Given the description of an element on the screen output the (x, y) to click on. 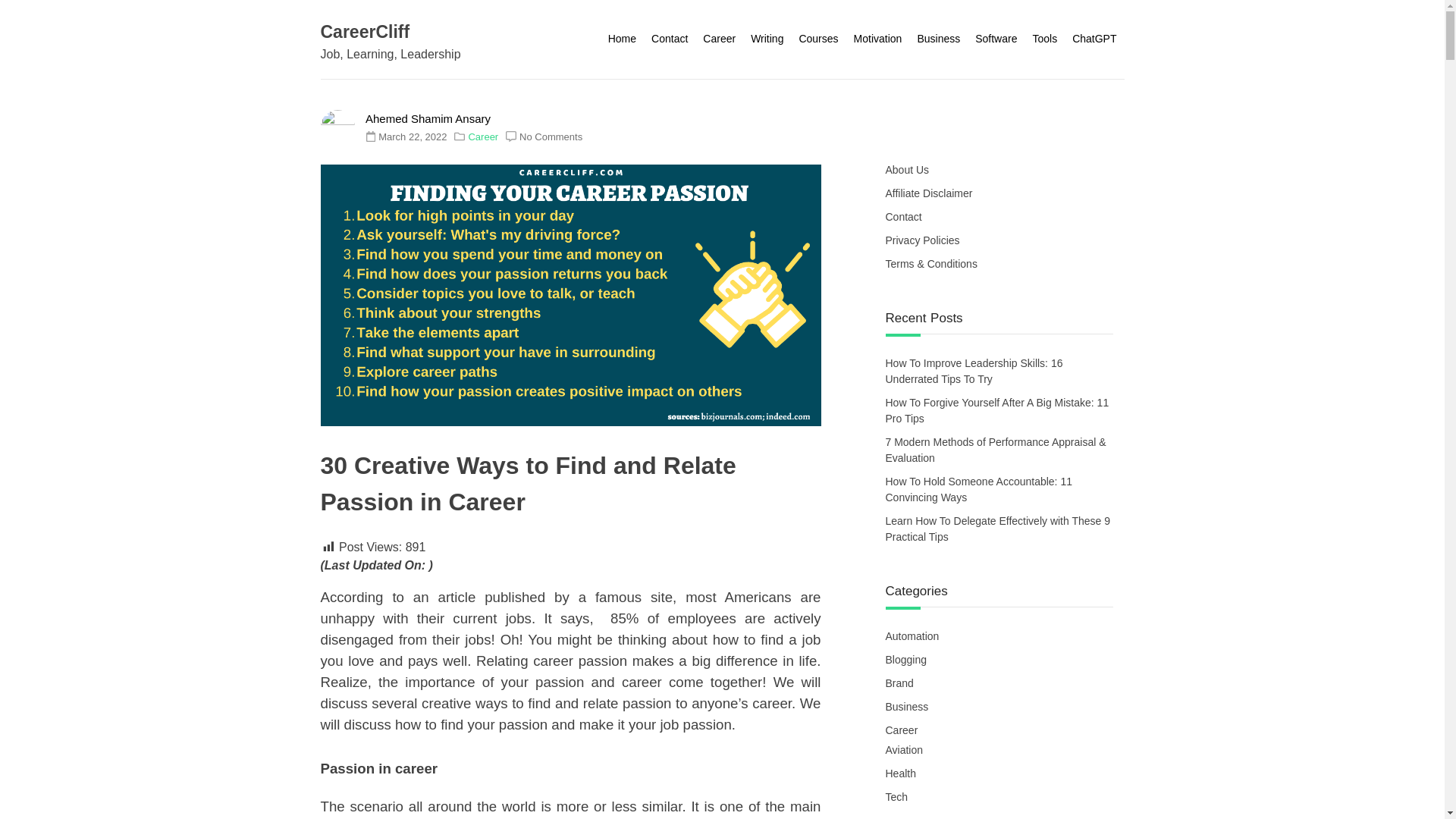
ChatGPT (1094, 38)
Writing (766, 38)
Tools (1044, 38)
Courses (817, 38)
Motivation (877, 38)
Business (938, 38)
No Comments (550, 135)
Contact (669, 38)
Career (482, 135)
Career (718, 38)
Ahemed Shamim Ansary (427, 118)
Posts by Ahemed Shamim Ansary (427, 118)
Software (996, 38)
Home (621, 38)
CareerCliff (364, 31)
